Given the description of an element on the screen output the (x, y) to click on. 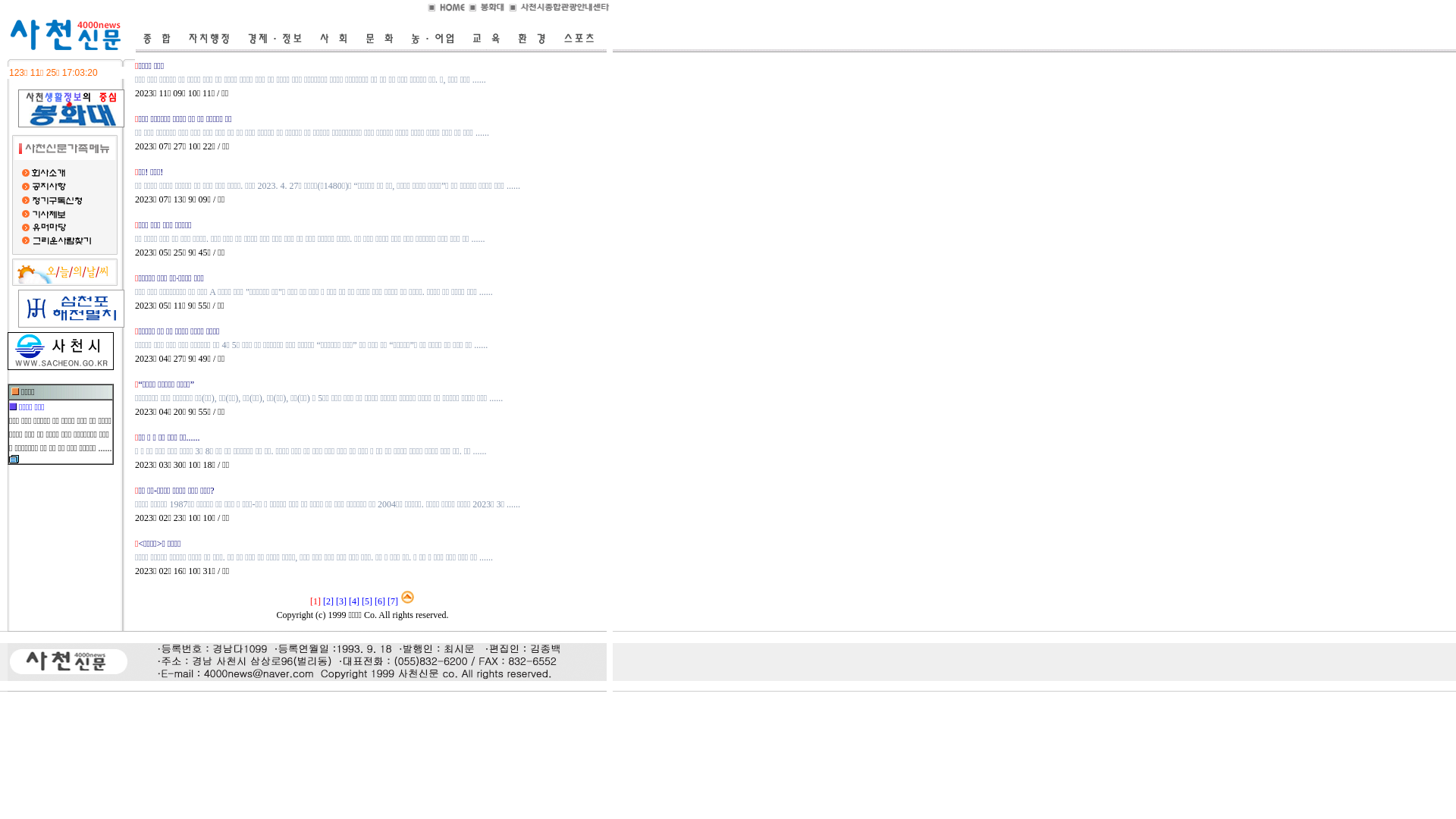
[7] Element type: text (392, 601)
[6] Element type: text (379, 601)
[3] Element type: text (340, 601)
[5] Element type: text (366, 601)
[4] Element type: text (353, 601)
[2] Element type: text (328, 601)
